Given the description of an element on the screen output the (x, y) to click on. 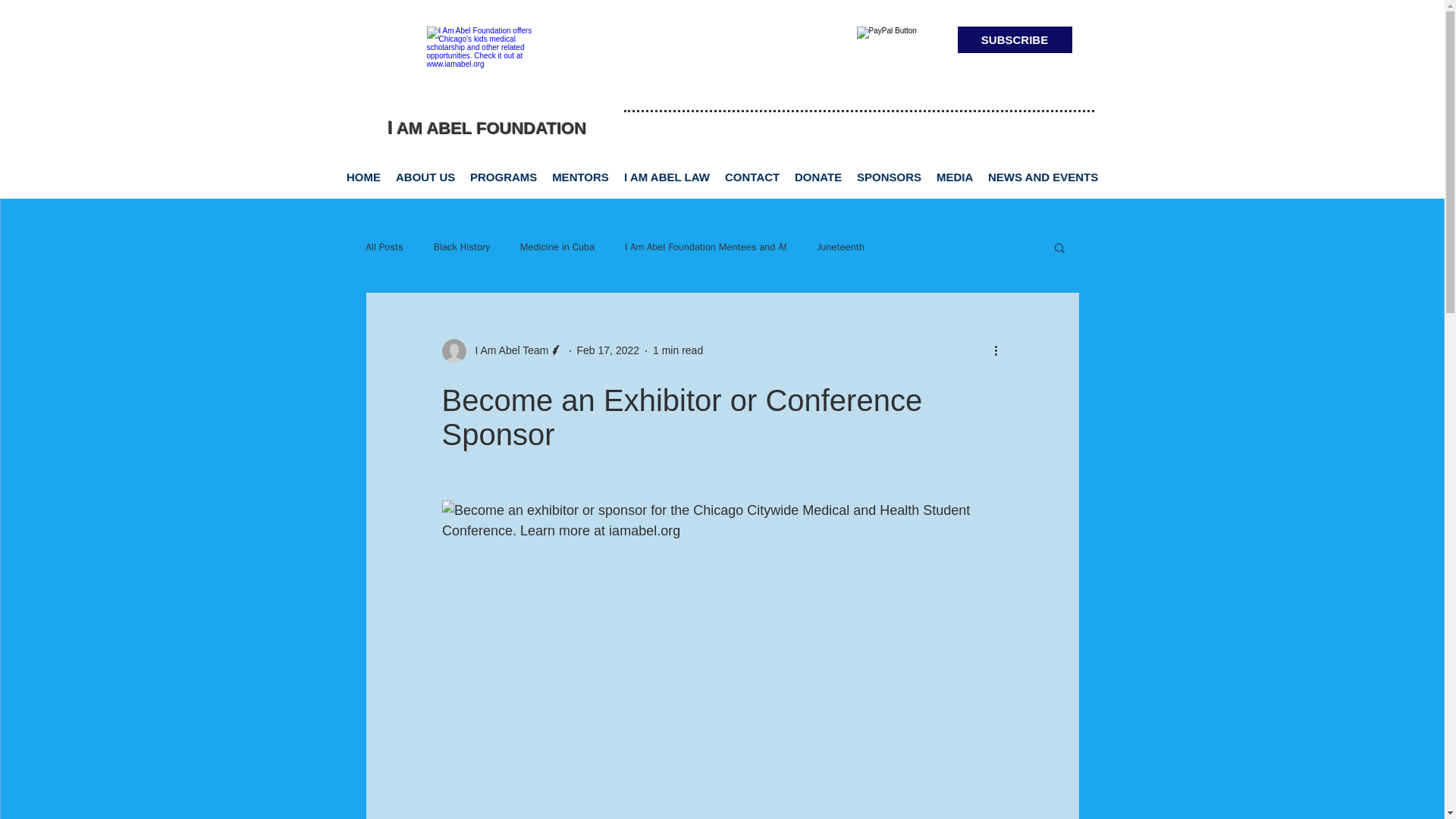
HOME (363, 176)
DONATE (817, 176)
I Am Abel Team (506, 350)
I AM ABEL LAW (666, 176)
CONTACT (752, 176)
Feb 17, 2022 (608, 349)
SPONSORS (888, 176)
1 min read (677, 349)
